Given the description of an element on the screen output the (x, y) to click on. 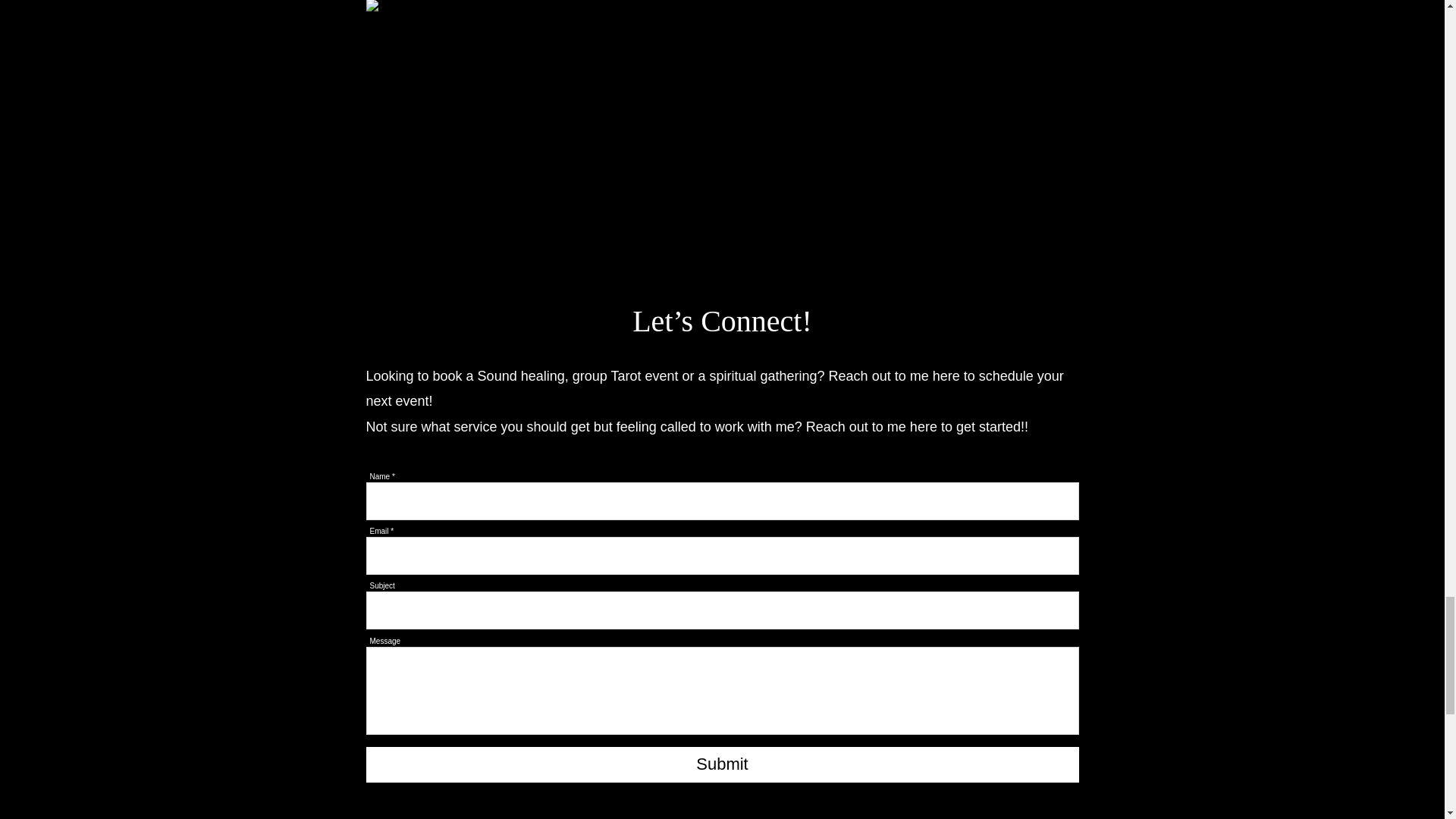
Submit (721, 764)
